Given the description of an element on the screen output the (x, y) to click on. 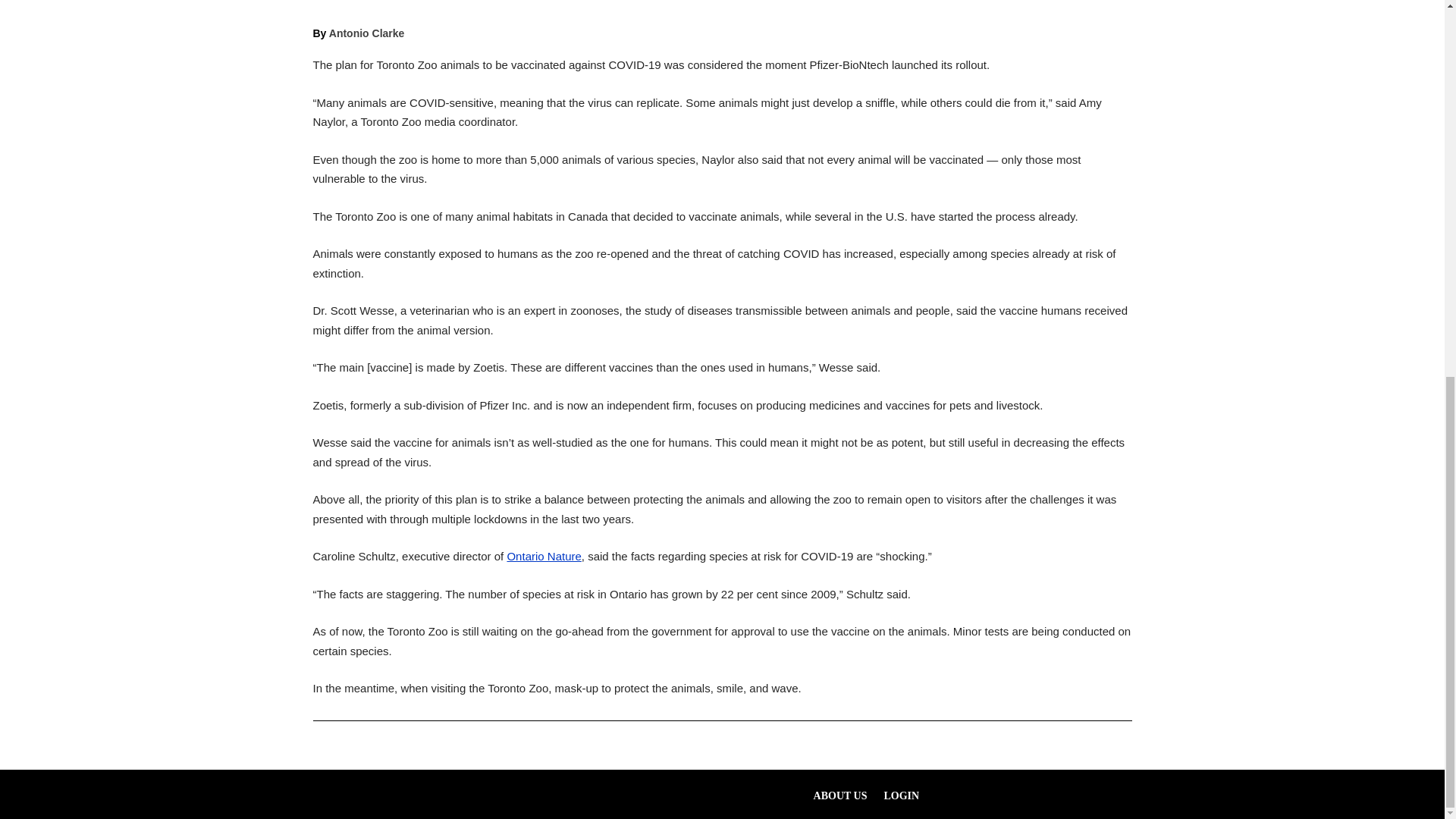
Antonio Clarke (366, 33)
ABOUT US (840, 799)
LOGIN (901, 799)
Ontario Nature (543, 555)
